Given the description of an element on the screen output the (x, y) to click on. 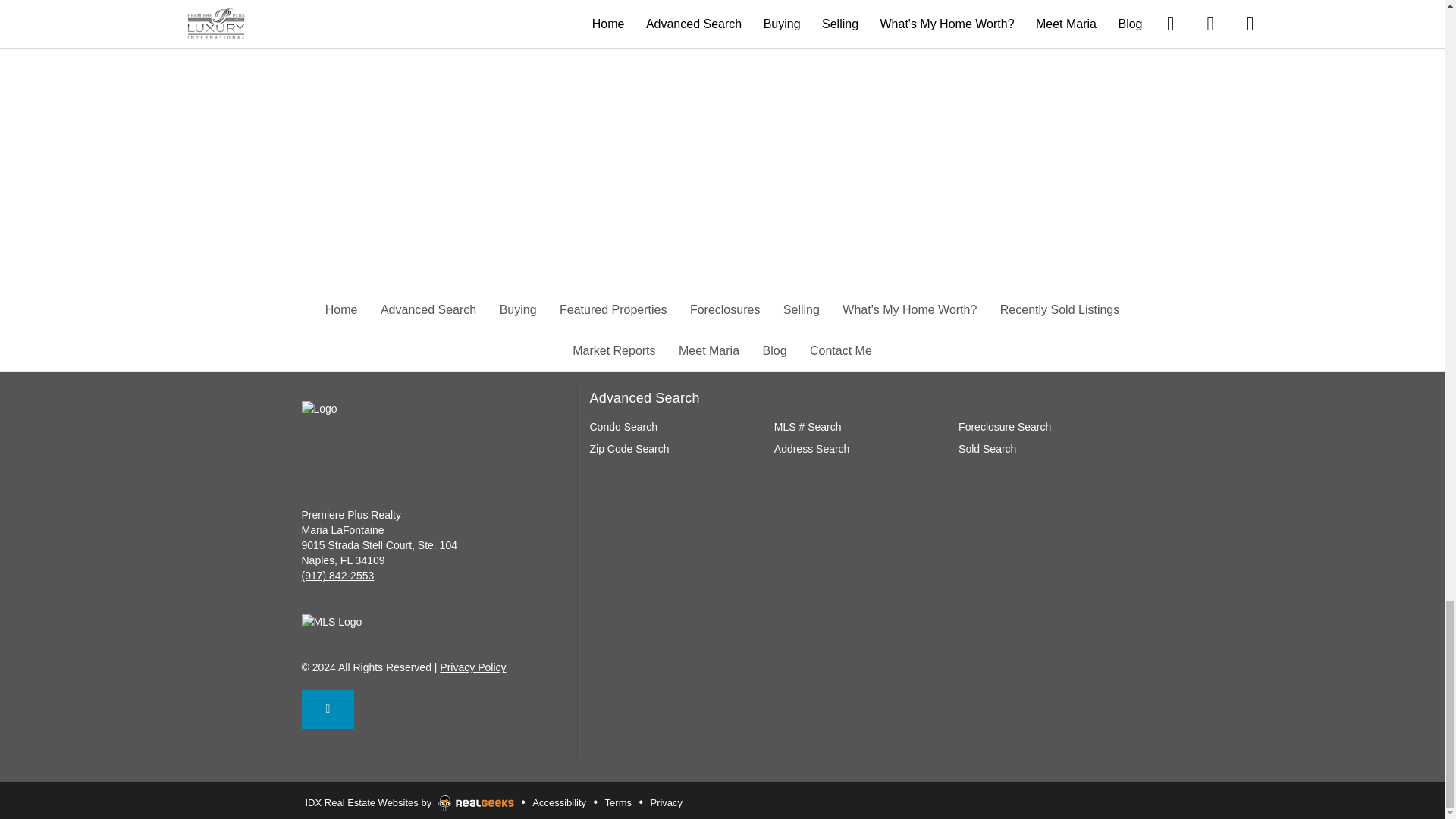
MLS Logo (357, 621)
Go to top (328, 709)
Logo (376, 408)
